Given the description of an element on the screen output the (x, y) to click on. 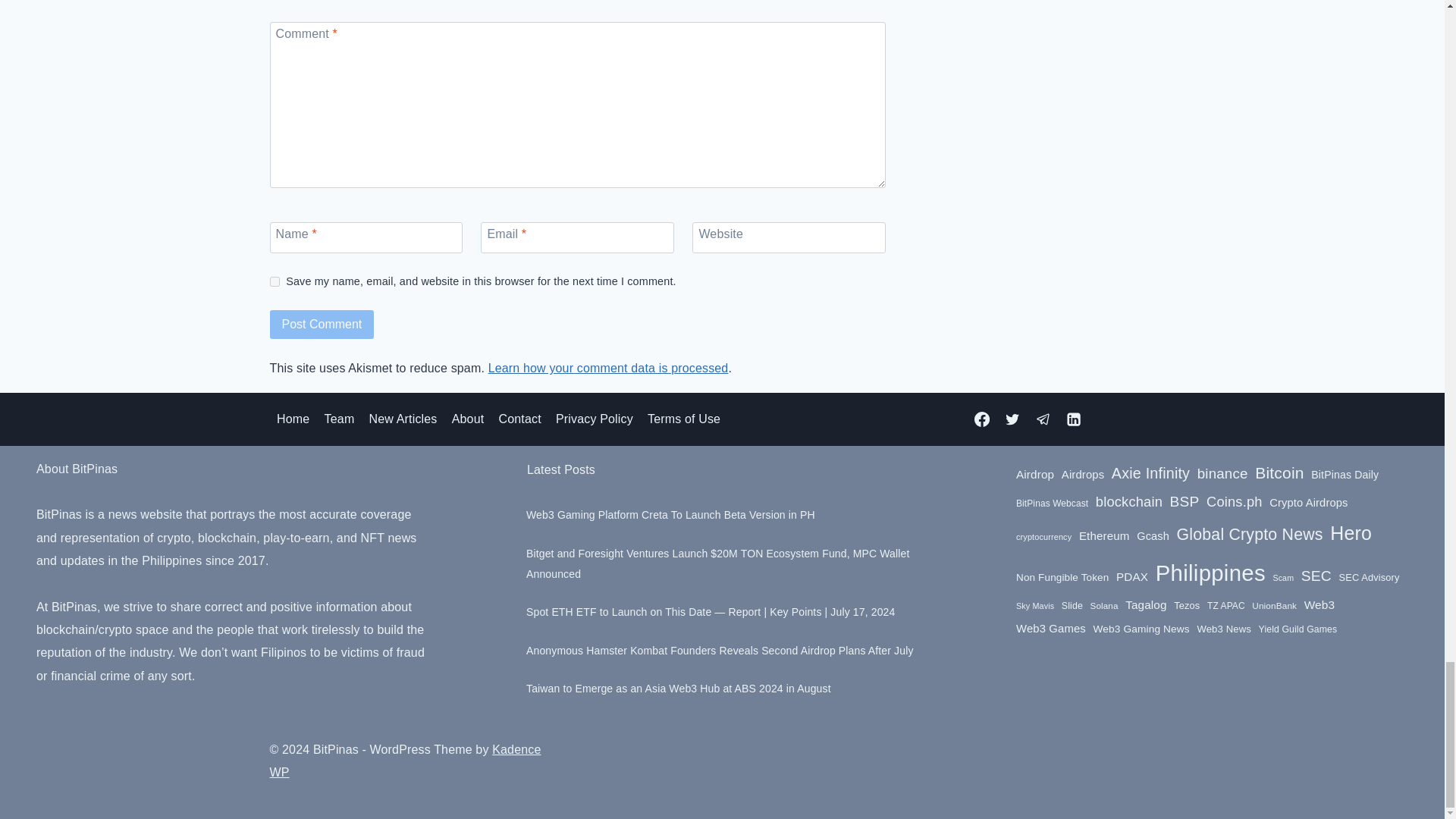
yes (274, 281)
Post Comment (321, 324)
Post Comment (321, 324)
Learn how your comment data is processed (608, 367)
